Given the description of an element on the screen output the (x, y) to click on. 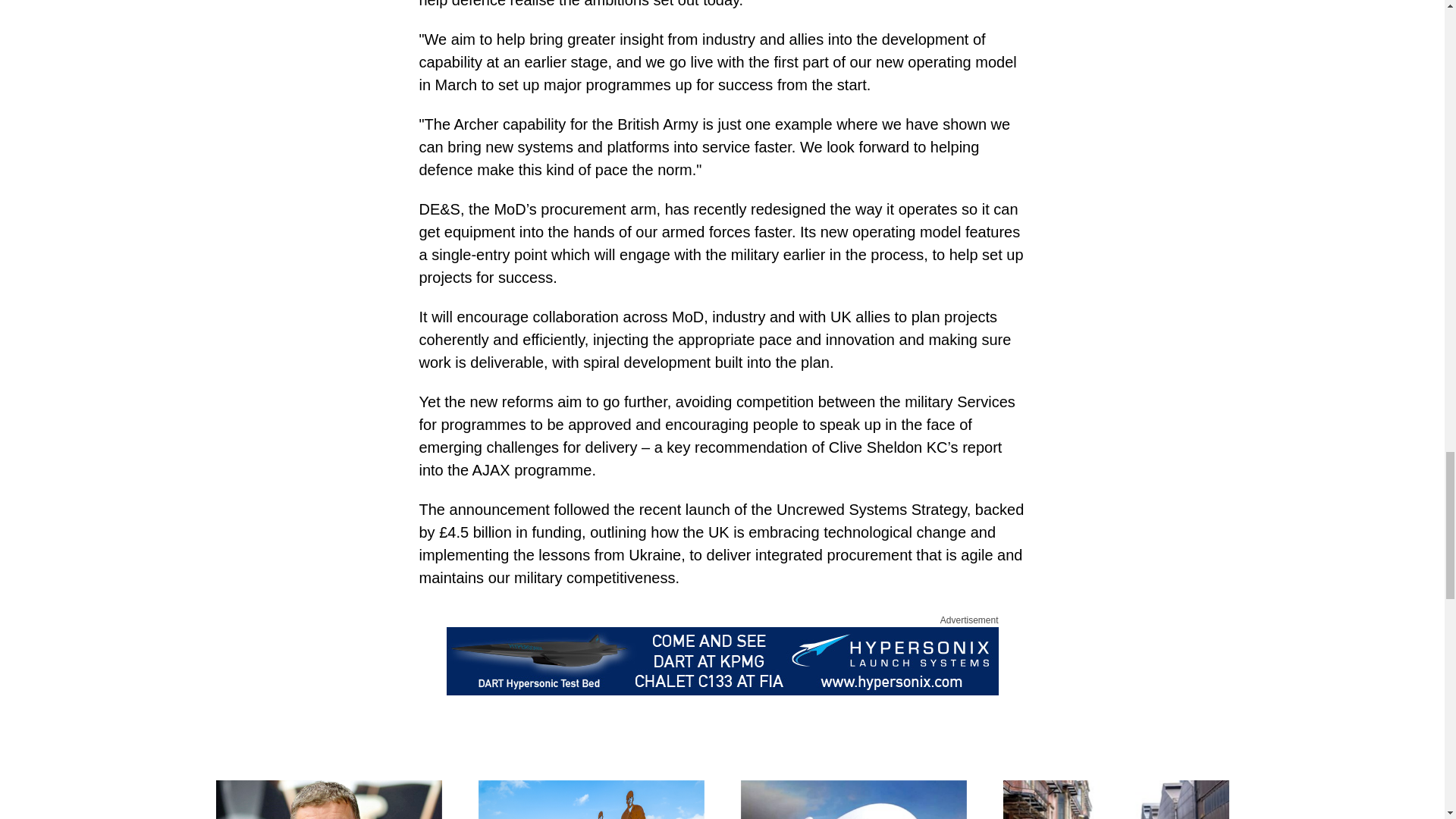
Hypersonix FIA (721, 661)
